Given the description of an element on the screen output the (x, y) to click on. 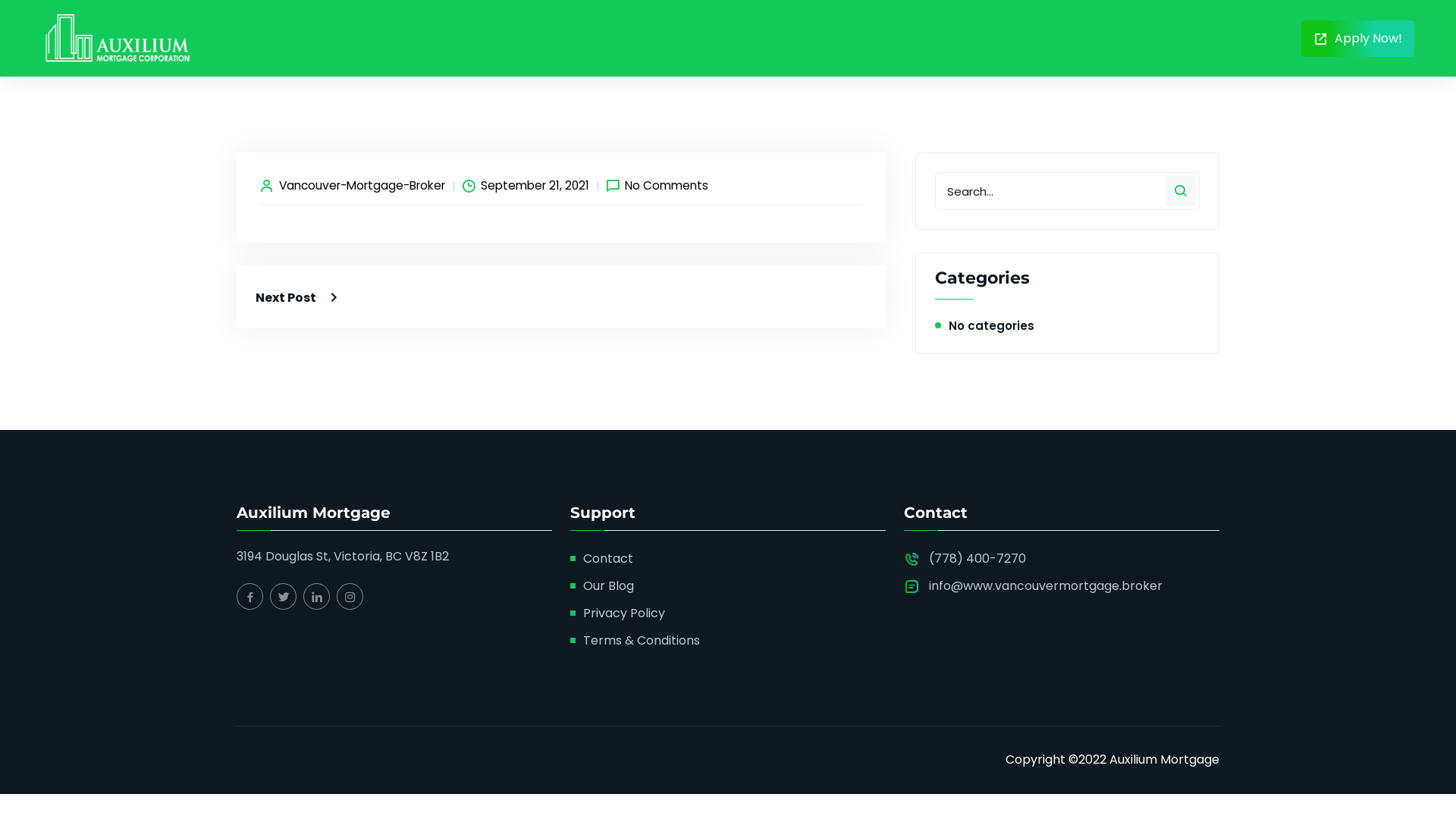
(778) 400-7270 Element type: text (977, 558)
Privacy Policy Element type: text (624, 613)
Next Post Element type: text (298, 296)
Vancouver-Mortgage-Broker Element type: text (362, 185)
Contact Element type: text (608, 558)
Apply Now! Element type: text (1357, 37)
Our Blog Element type: text (608, 586)
info@www.vancouvermortgage.broker Element type: text (1045, 586)
  Element type: text (753, 37)
Terms & Conditions Element type: text (641, 640)
